Given the description of an element on the screen output the (x, y) to click on. 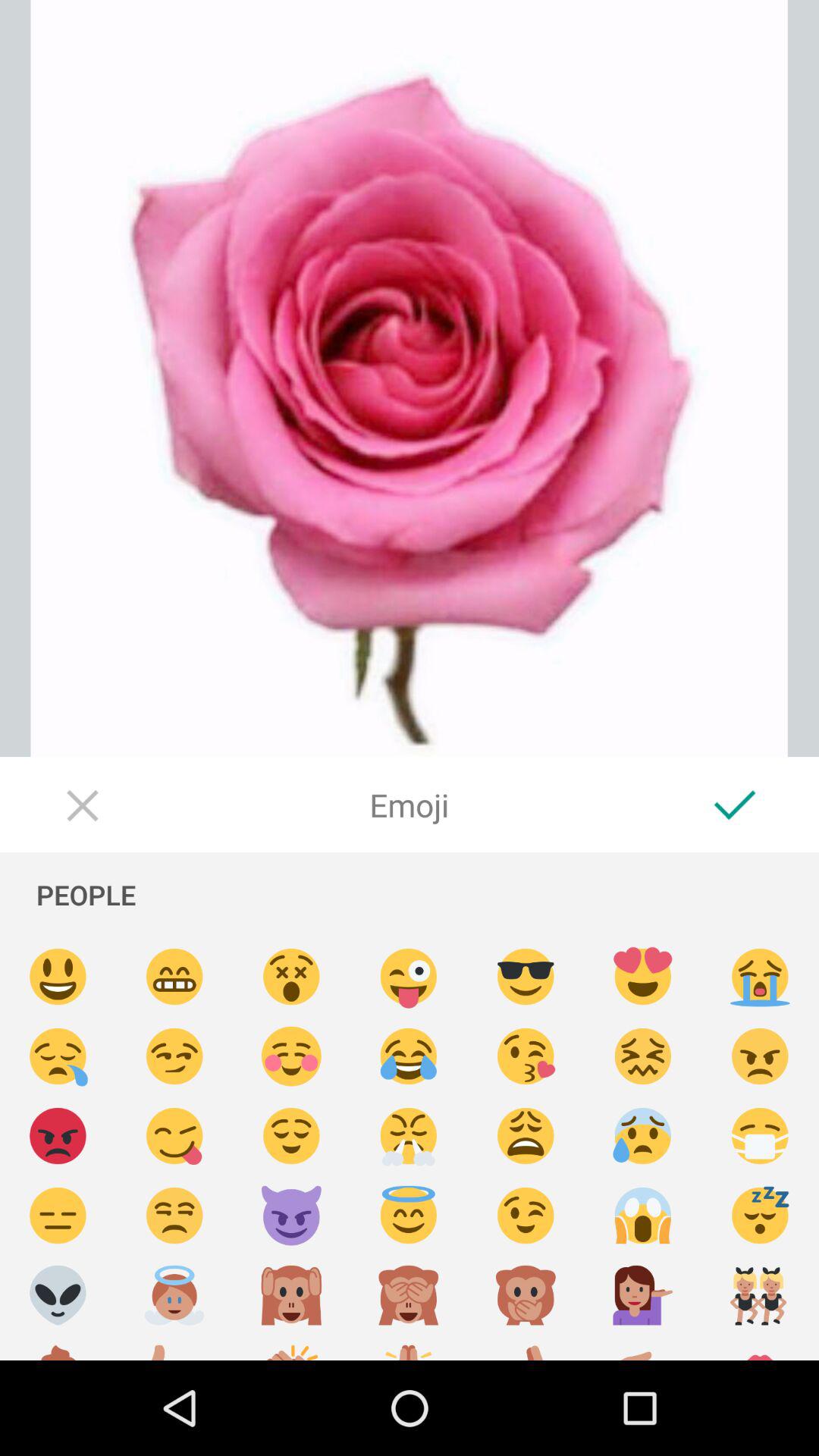
grinning emoji (174, 976)
